Given the description of an element on the screen output the (x, y) to click on. 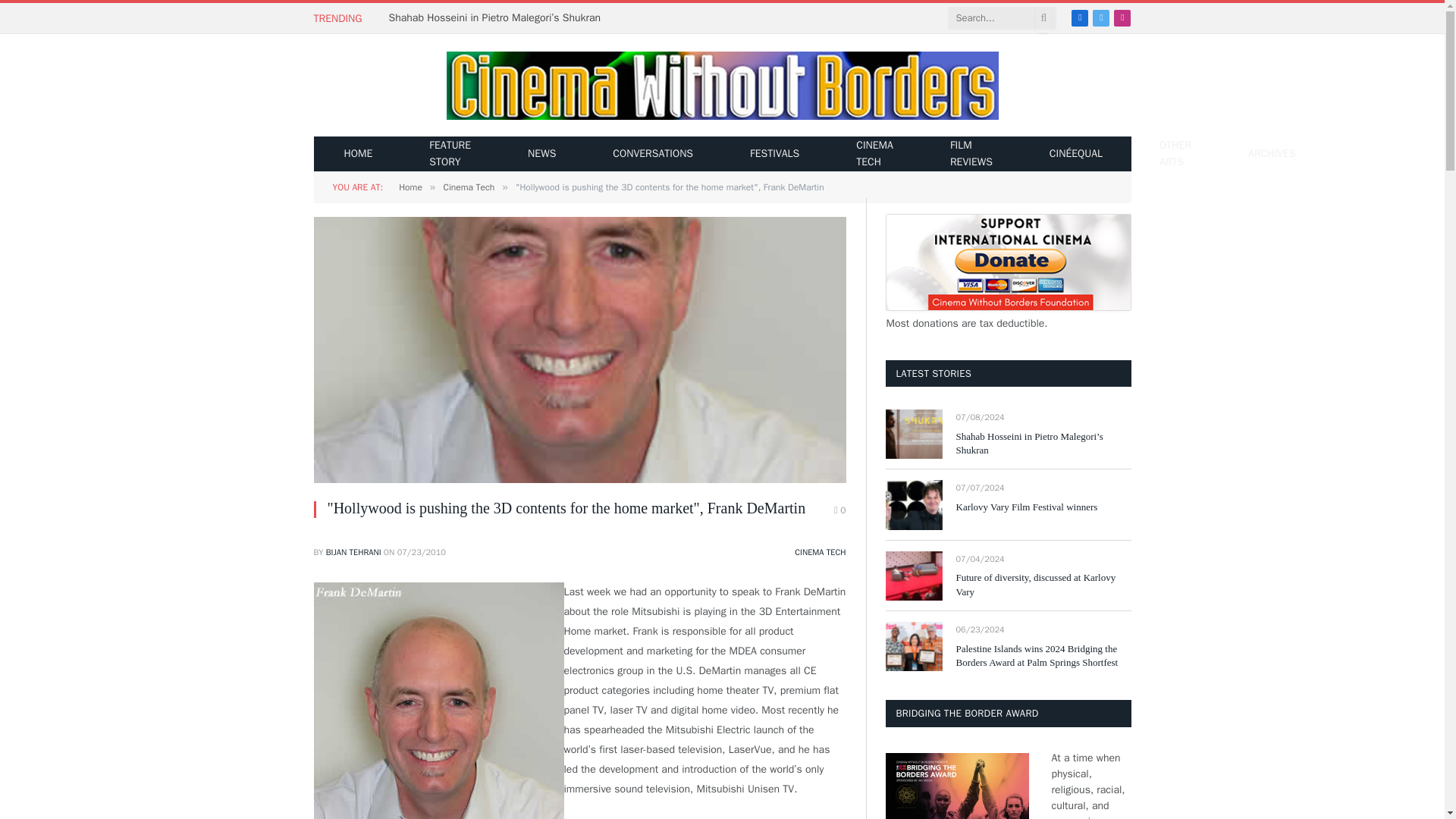
CINEMA TECH (819, 552)
FEATURE STORY (449, 153)
NEWS (541, 153)
Facebook (1079, 17)
Instagram (1122, 17)
Cinema Without Borders (721, 85)
ARCHIVES (1271, 153)
0 (839, 509)
HOME (357, 153)
FESTIVALS (774, 153)
Posts by Bijan Tehrani (353, 552)
2010-07-23 (421, 552)
OTHER ARTS (1174, 153)
Cinema Tech (468, 186)
